Given the description of an element on the screen output the (x, y) to click on. 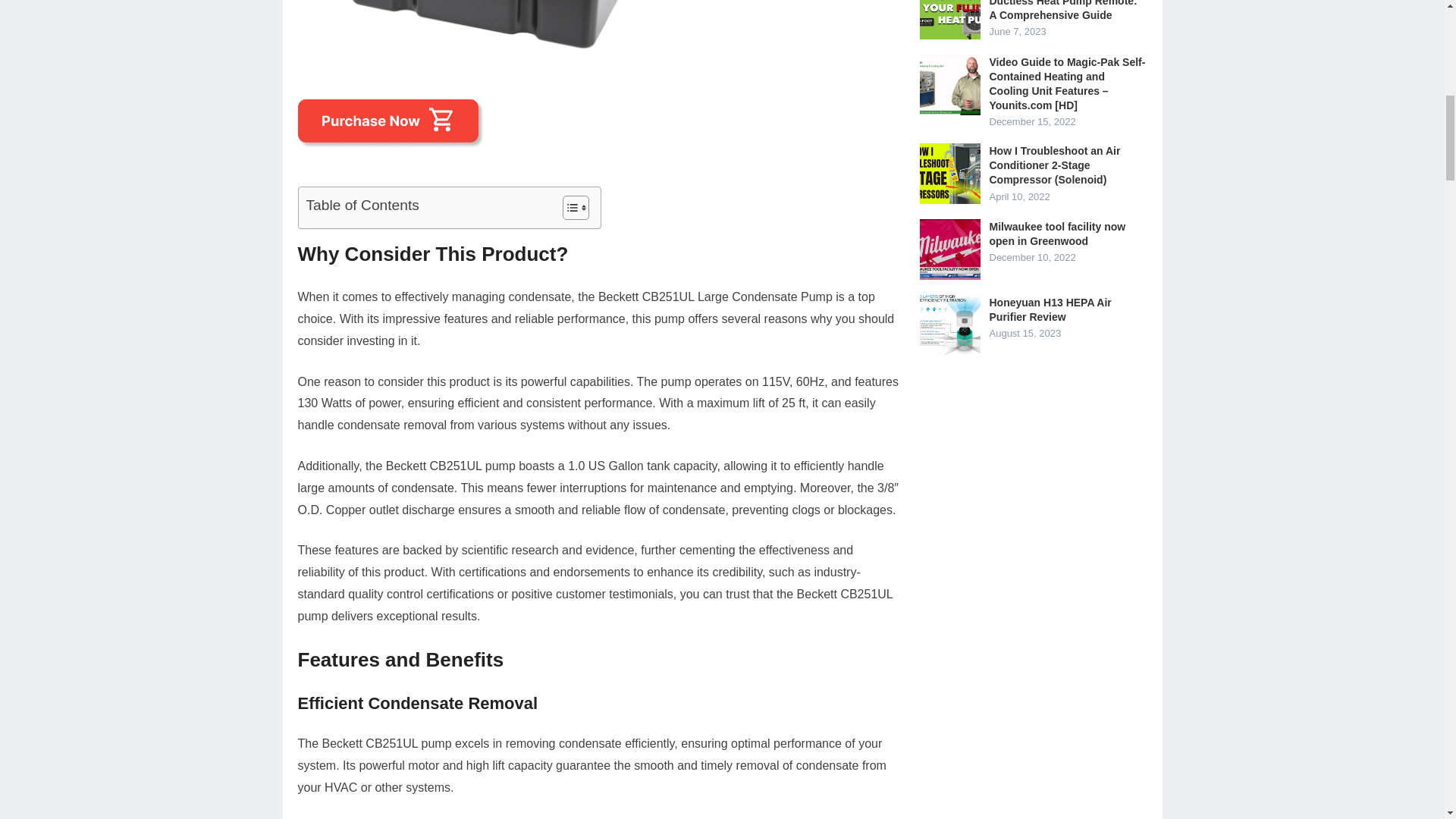
Beckett CB251UL Large Condensate Pump, 115V, 25 ft max lift (487, 56)
Beckett CB251UL Large Condensate Pump, 115V, 25 ft max lift (487, 30)
